Given the description of an element on the screen output the (x, y) to click on. 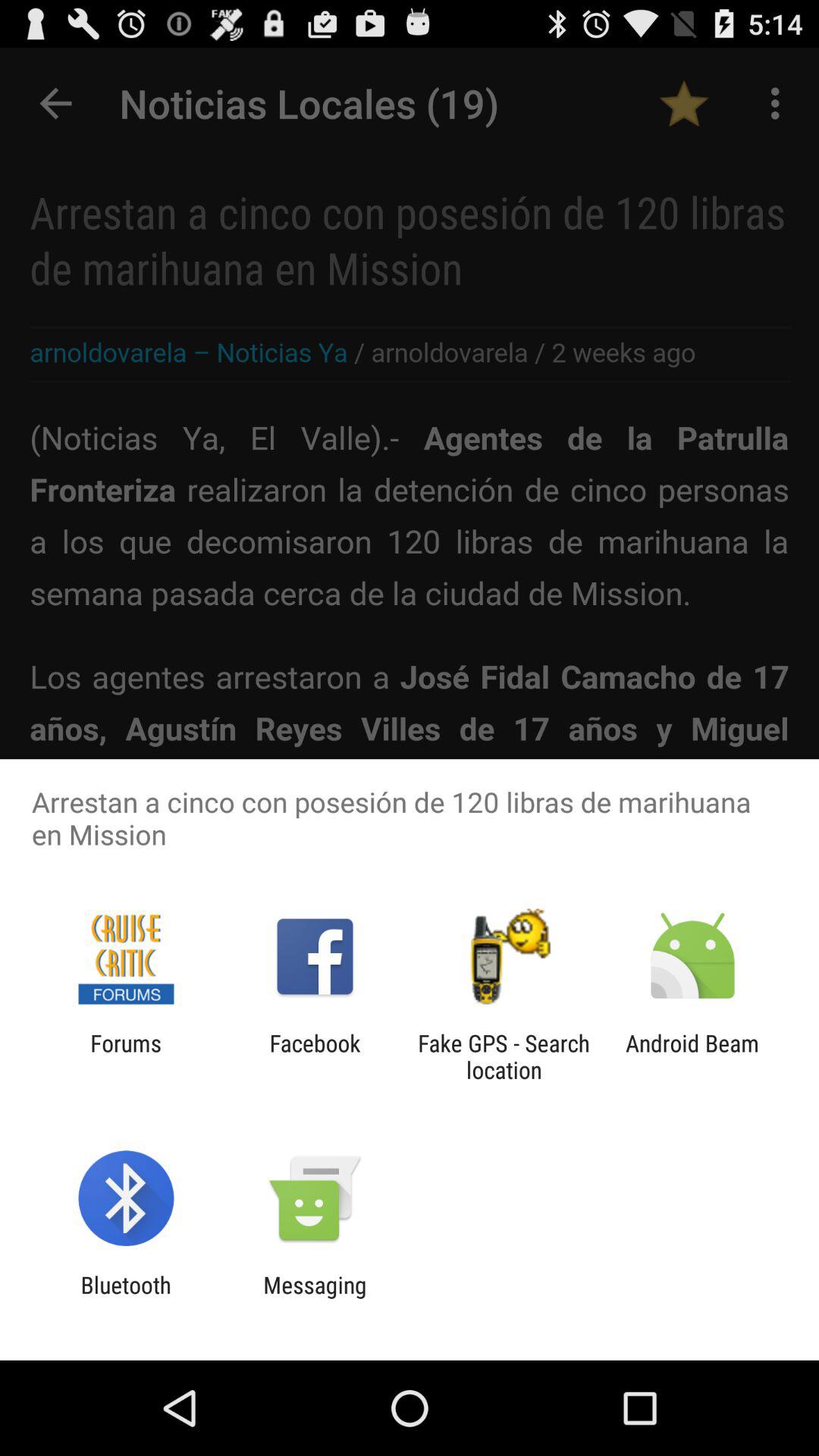
turn on app to the right of facebook (503, 1056)
